Given the description of an element on the screen output the (x, y) to click on. 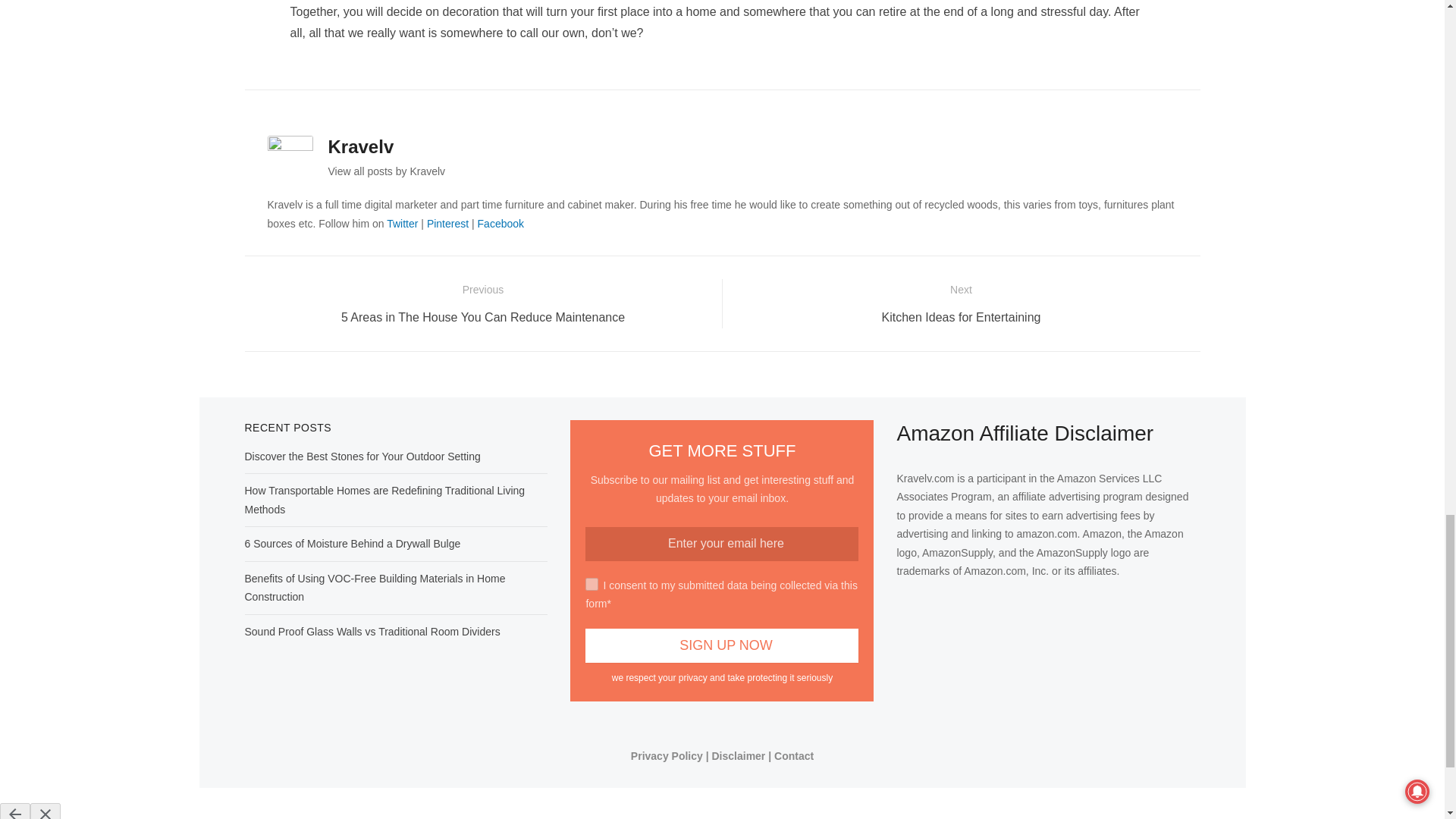
Sign Up Now (722, 645)
View all posts by Kravelv (386, 171)
Twitter (402, 223)
on (591, 584)
